Given the description of an element on the screen output the (x, y) to click on. 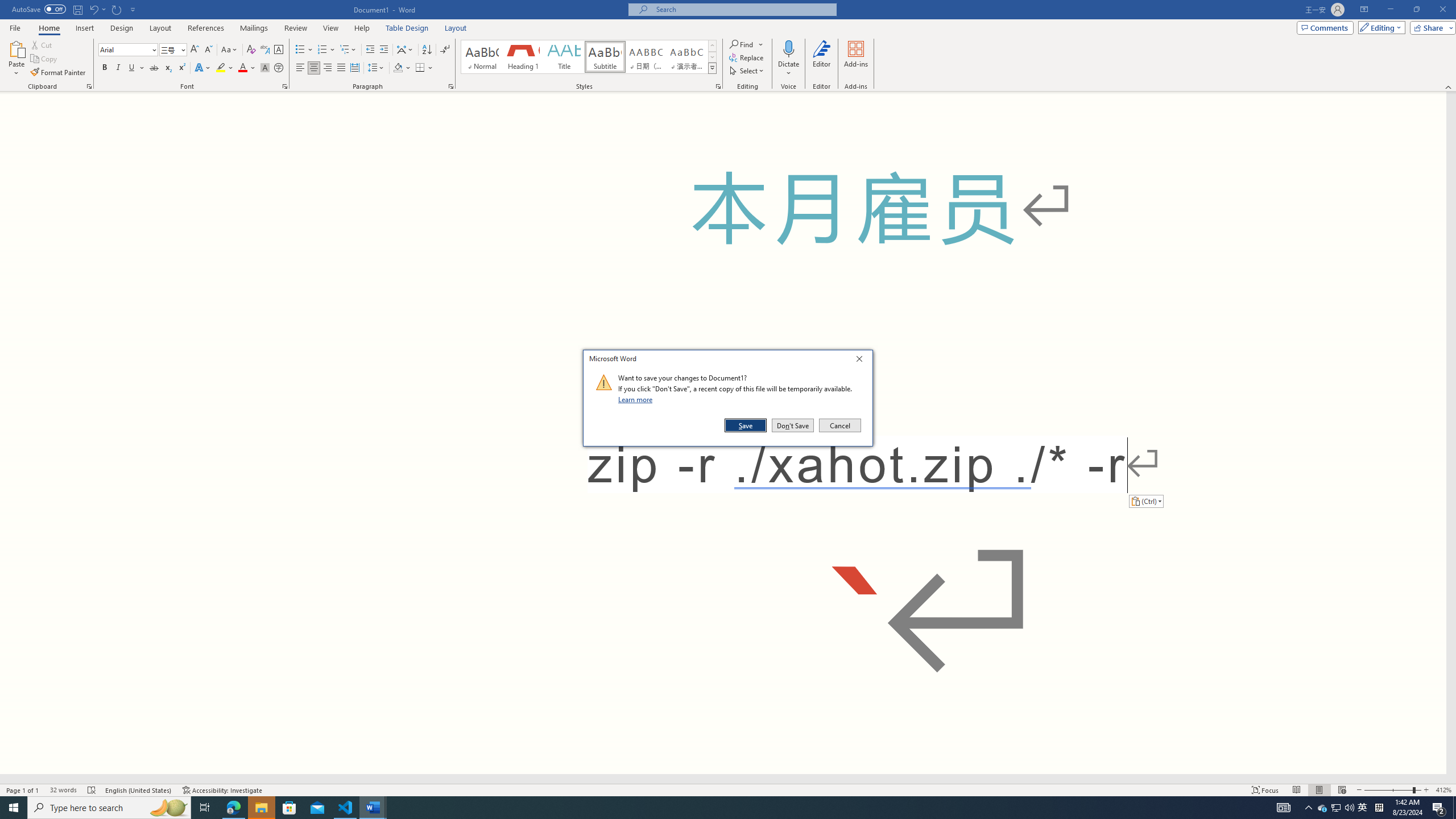
Language English (United States) (138, 790)
Shading RGB(0, 0, 0) (397, 67)
Review (295, 28)
Table Design (407, 28)
Superscript (180, 67)
Subtitle (605, 56)
Zoom 412% (1362, 807)
Row up (1443, 790)
Microsoft search (711, 45)
